Given the description of an element on the screen output the (x, y) to click on. 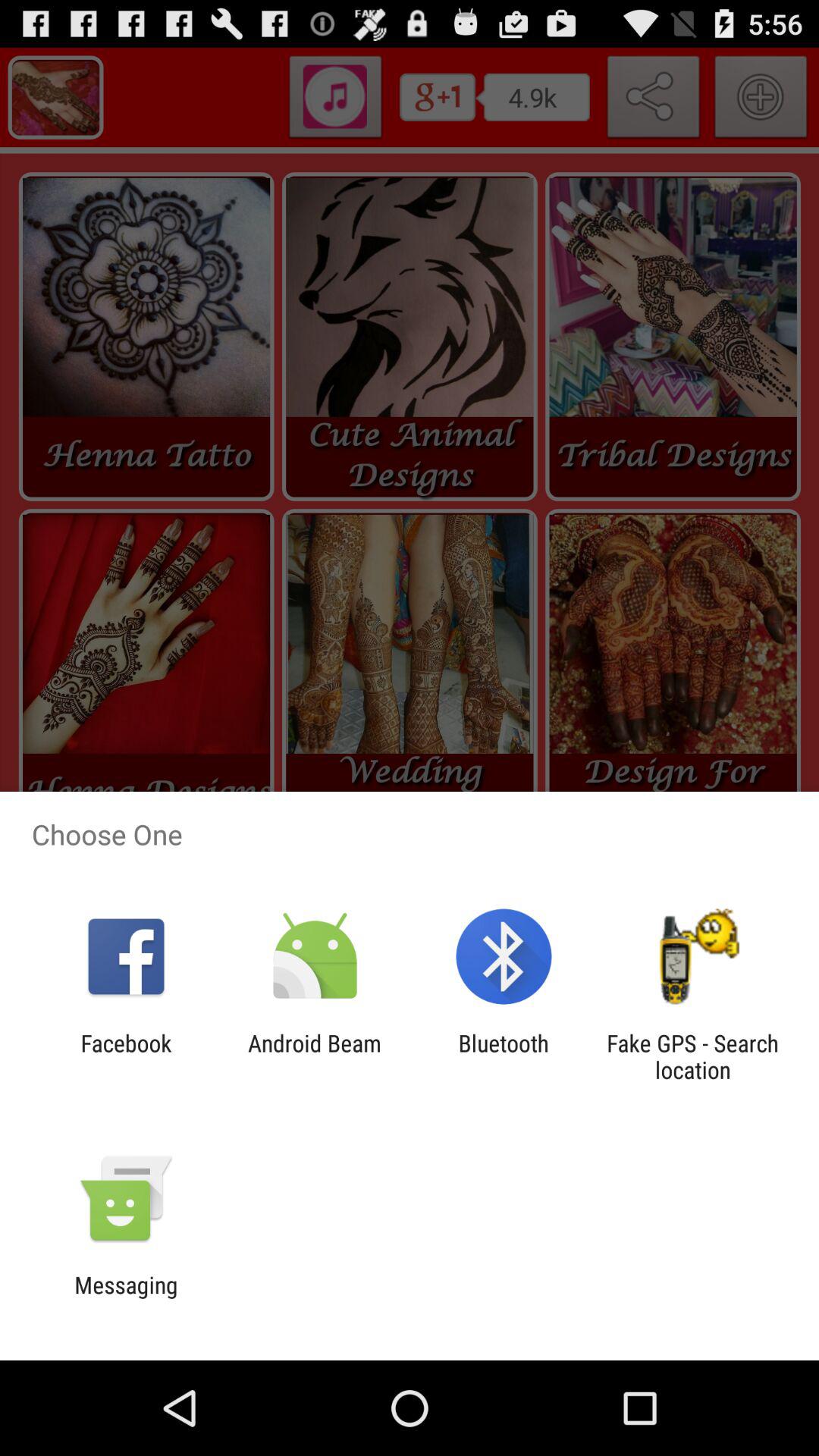
press icon next to fake gps search app (503, 1056)
